Given the description of an element on the screen output the (x, y) to click on. 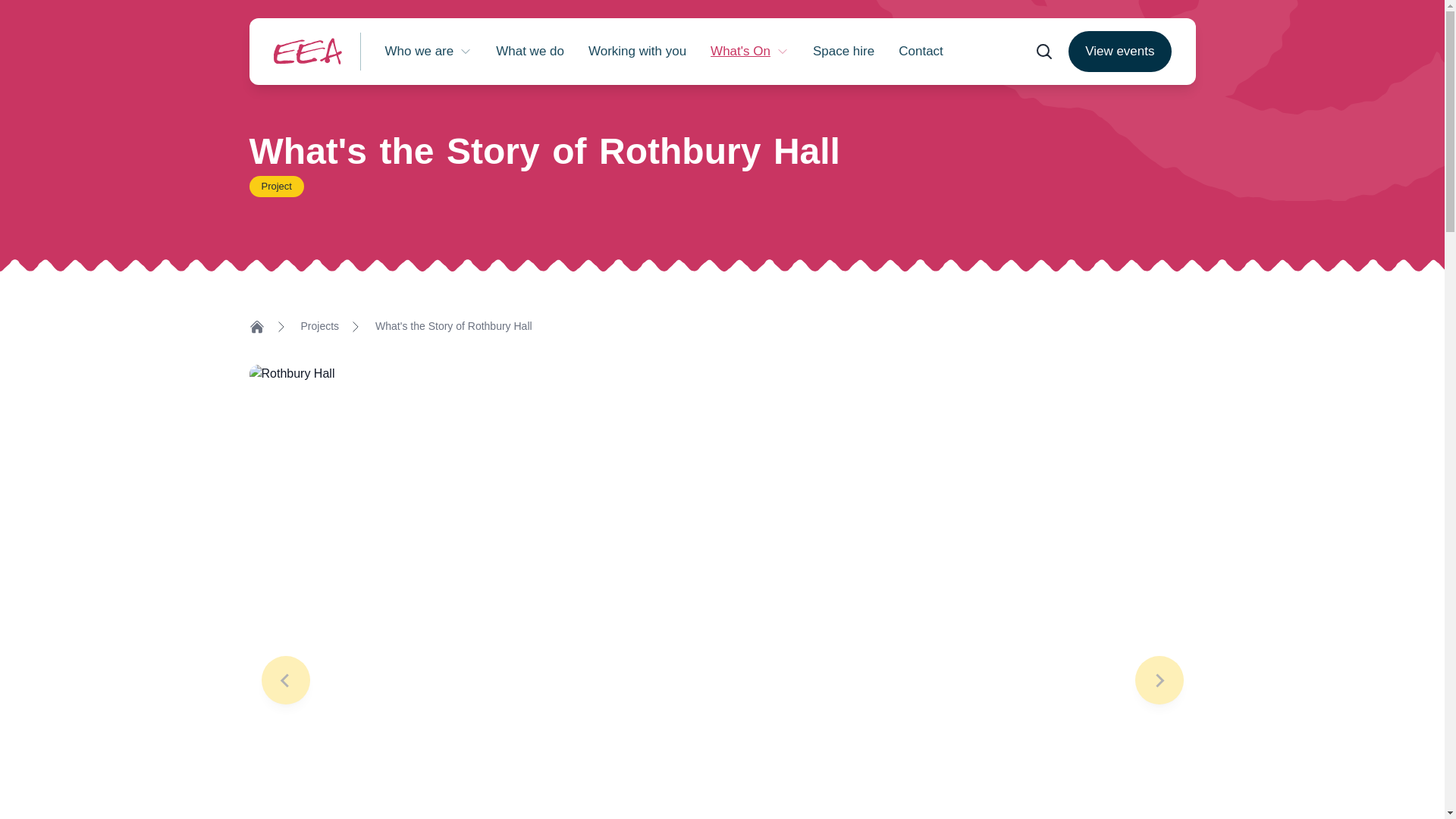
Who we are (428, 51)
Contact (920, 51)
What we do (529, 51)
Space hire (843, 51)
What's the Story of Rothbury Hall (453, 326)
What's On (749, 51)
Home (255, 326)
Working with you (637, 51)
Projects (319, 326)
View events (1119, 51)
